Given the description of an element on the screen output the (x, y) to click on. 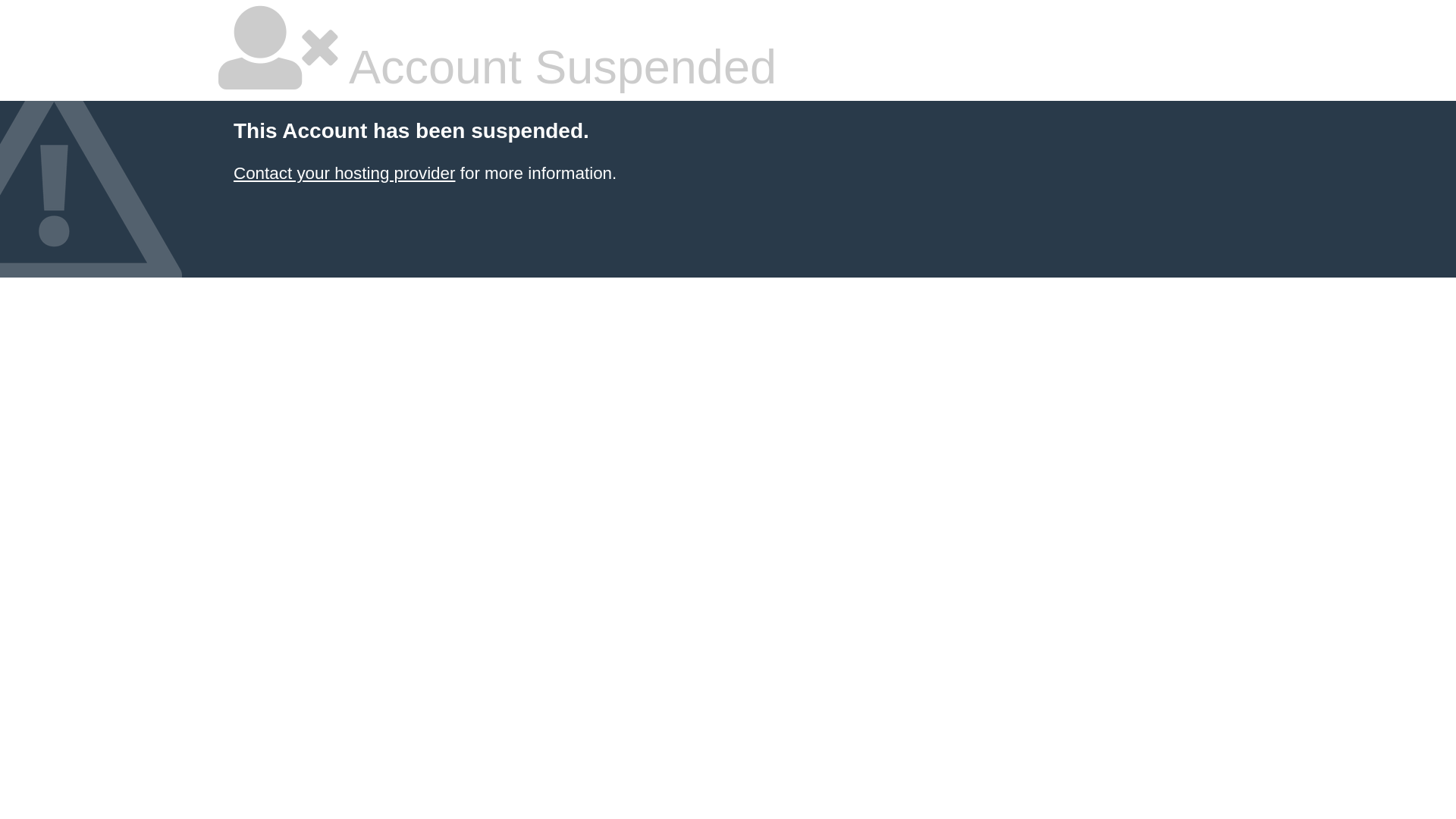
Contact your hosting provider Element type: text (344, 172)
